Given the description of an element on the screen output the (x, y) to click on. 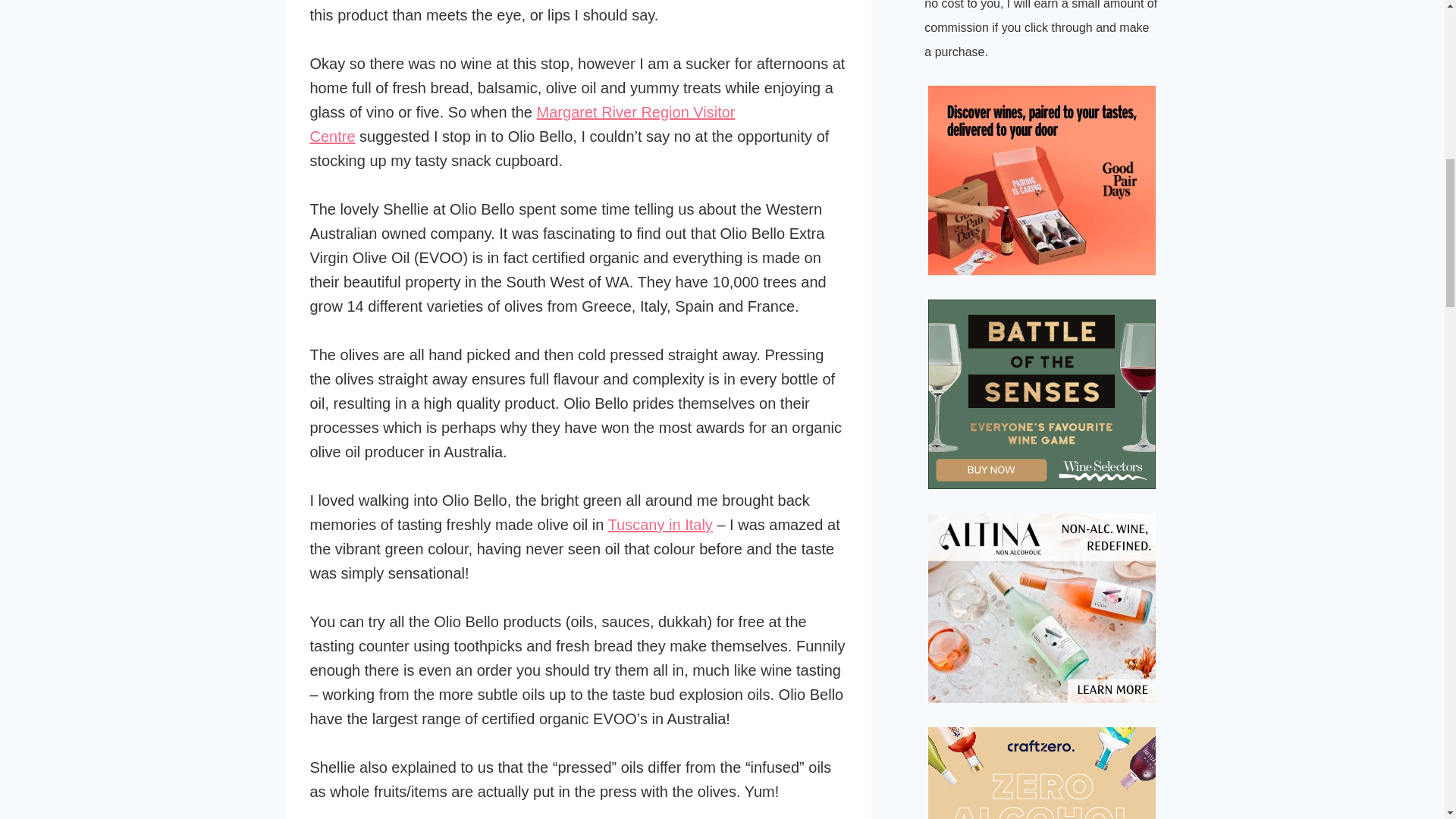
Margaret River Region Visitor Centre (521, 124)
Tuscany in Italy (660, 524)
